Given the description of an element on the screen output the (x, y) to click on. 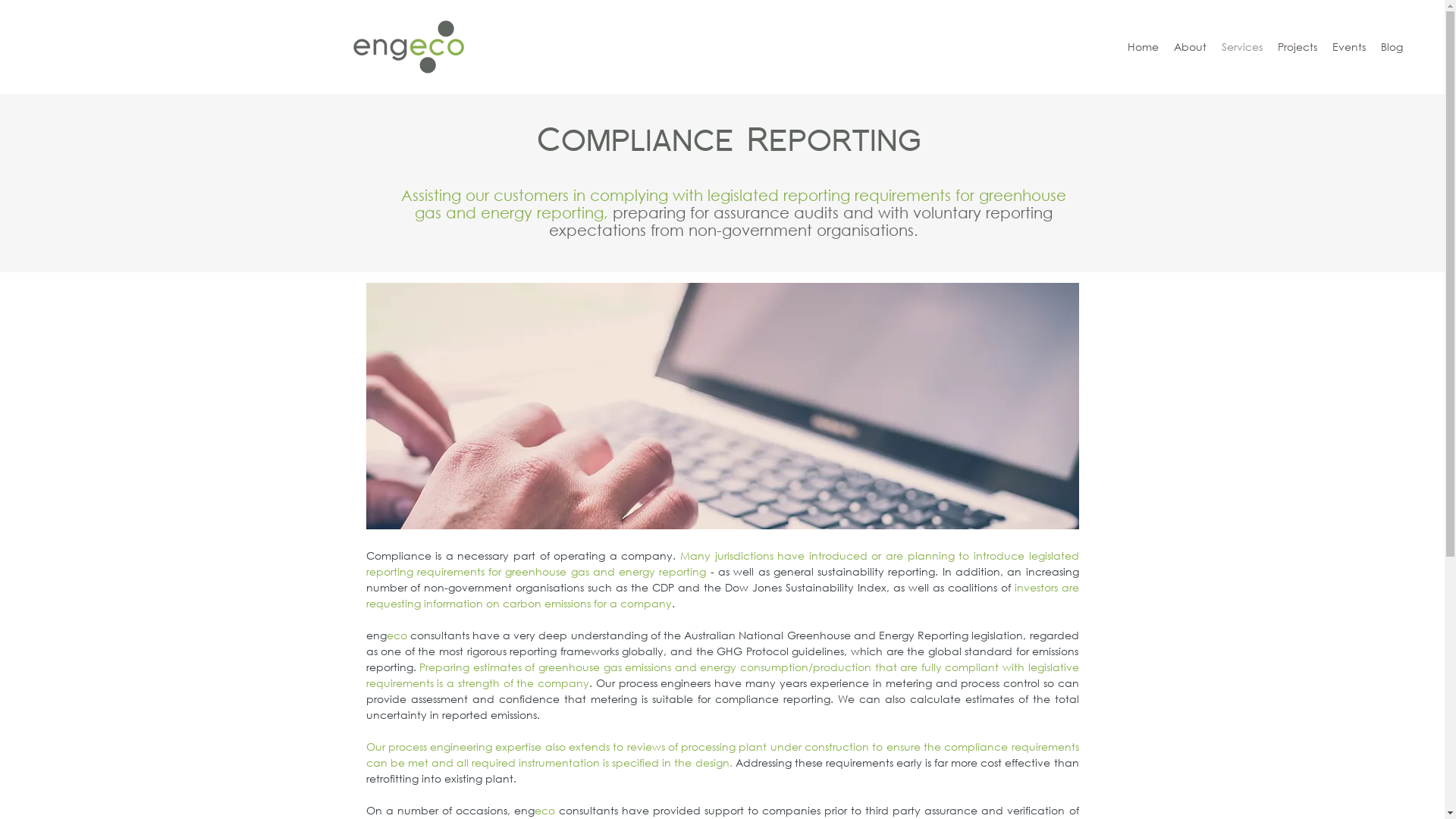
Blog Element type: text (1391, 46)
Services Element type: text (1242, 46)
About Element type: text (1190, 46)
Home Element type: text (1143, 46)
Events Element type: text (1348, 46)
Projects Element type: text (1297, 46)
